Given the description of an element on the screen output the (x, y) to click on. 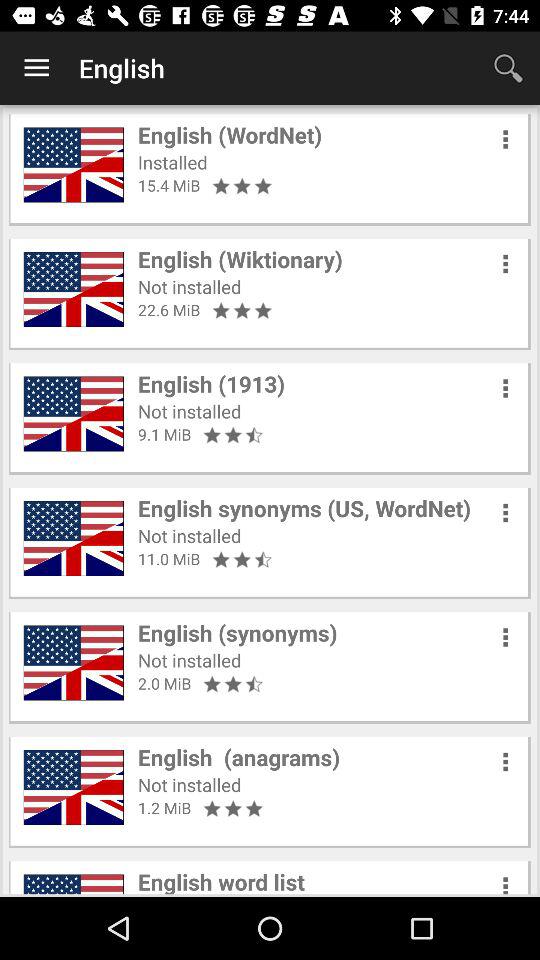
press app to the right of the english app (508, 67)
